Given the description of an element on the screen output the (x, y) to click on. 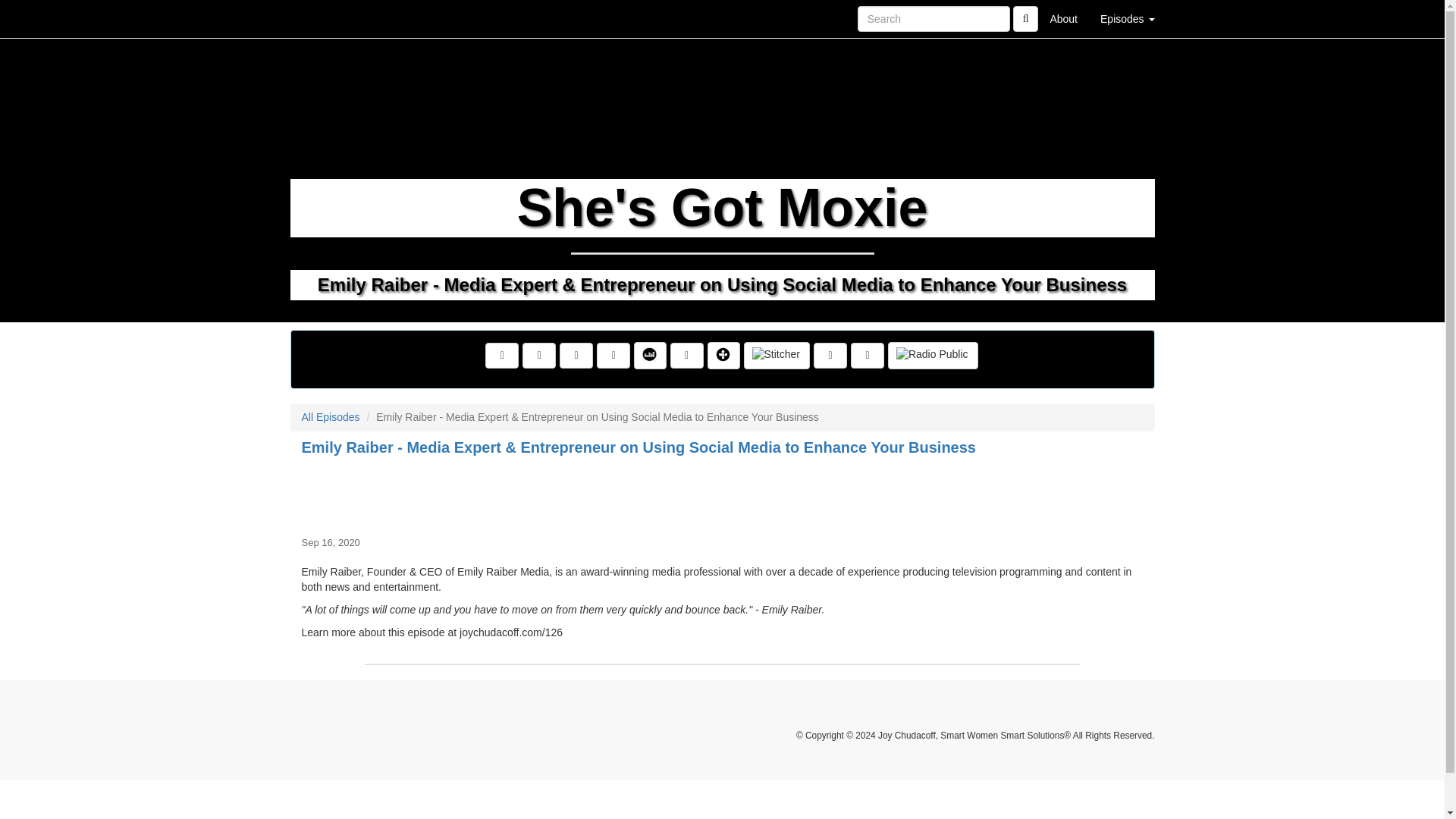
Go To YouTube Channel (866, 355)
Subscribe to RSS Feed (613, 355)
Episodes (1127, 18)
View Our LinkedIn Page (575, 355)
Listen on Stitcher (775, 355)
Listen on Deezer (649, 355)
Home Page (320, 18)
Listen on Radio Public (933, 355)
Listen on Apple Podcasts (686, 355)
About (1063, 18)
